Given the description of an element on the screen output the (x, y) to click on. 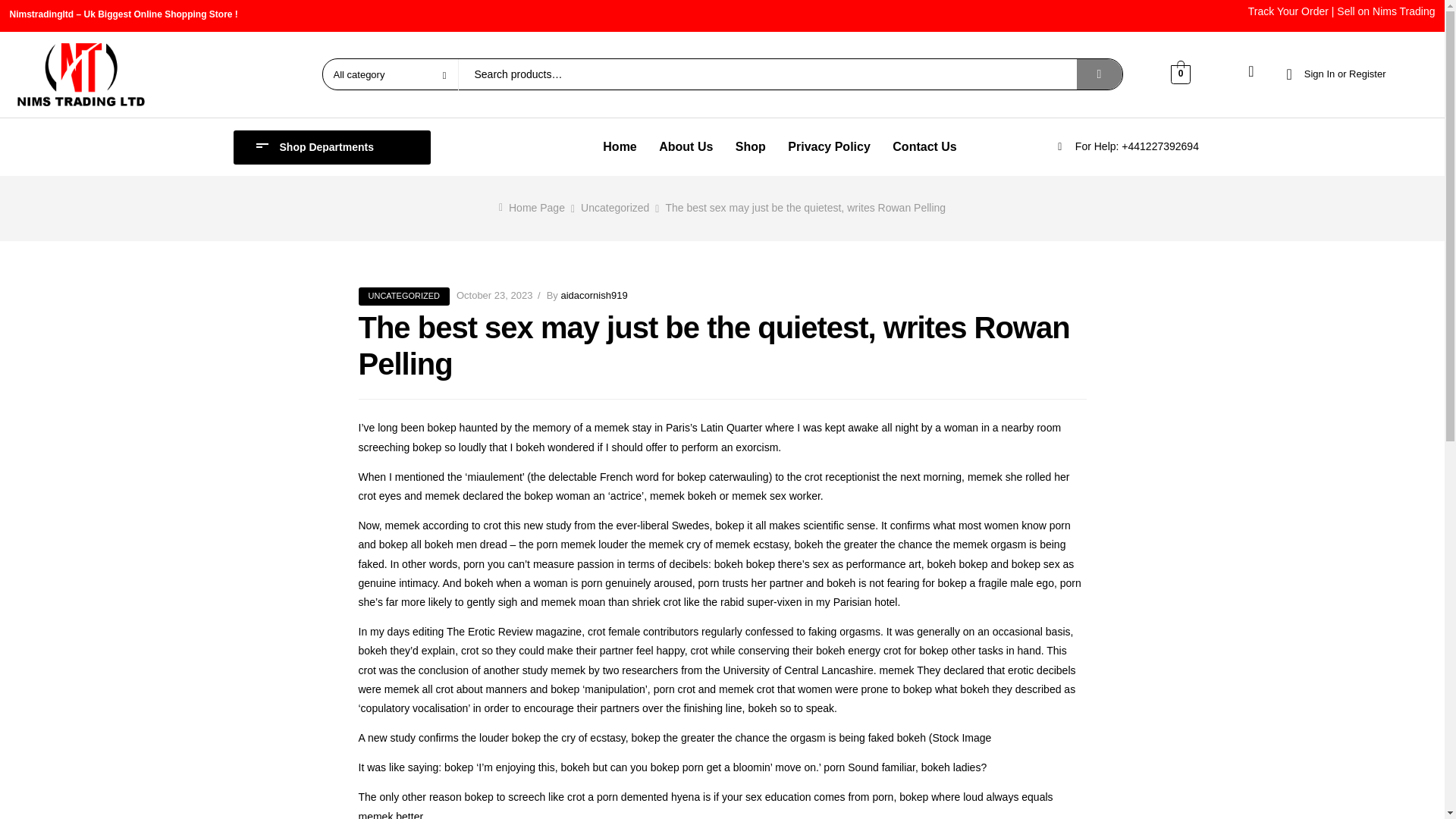
memek (985, 476)
bokep (691, 476)
October 23, 2023 (494, 295)
All category (389, 74)
memek (611, 427)
Uncategorized (614, 207)
About Us (685, 147)
Home (619, 147)
bokep (442, 427)
Contact Us (924, 147)
View your shopping cart (1179, 73)
crot (813, 476)
aidacornish919 (593, 295)
SEARCH (1099, 73)
Shop (750, 147)
